Given the description of an element on the screen output the (x, y) to click on. 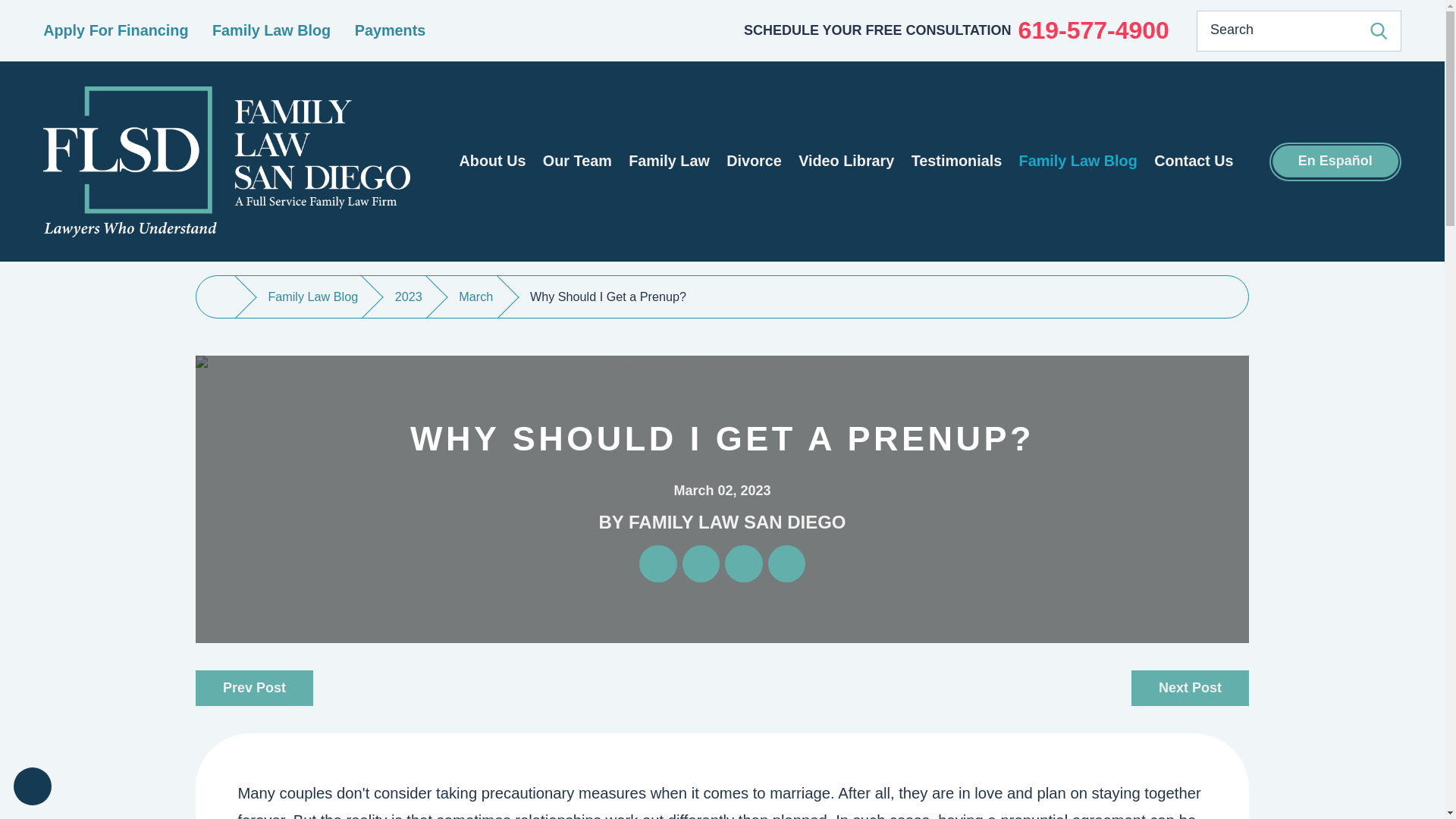
Payments (390, 30)
Family Law San Diego (226, 161)
Search Icon (1378, 30)
Open the accessibility options menu (31, 786)
619-577-4900 (1093, 30)
Go Home (222, 296)
Apply For Financing (115, 30)
Search Our Site (1378, 30)
Family Law Blog (271, 30)
